Given the description of an element on the screen output the (x, y) to click on. 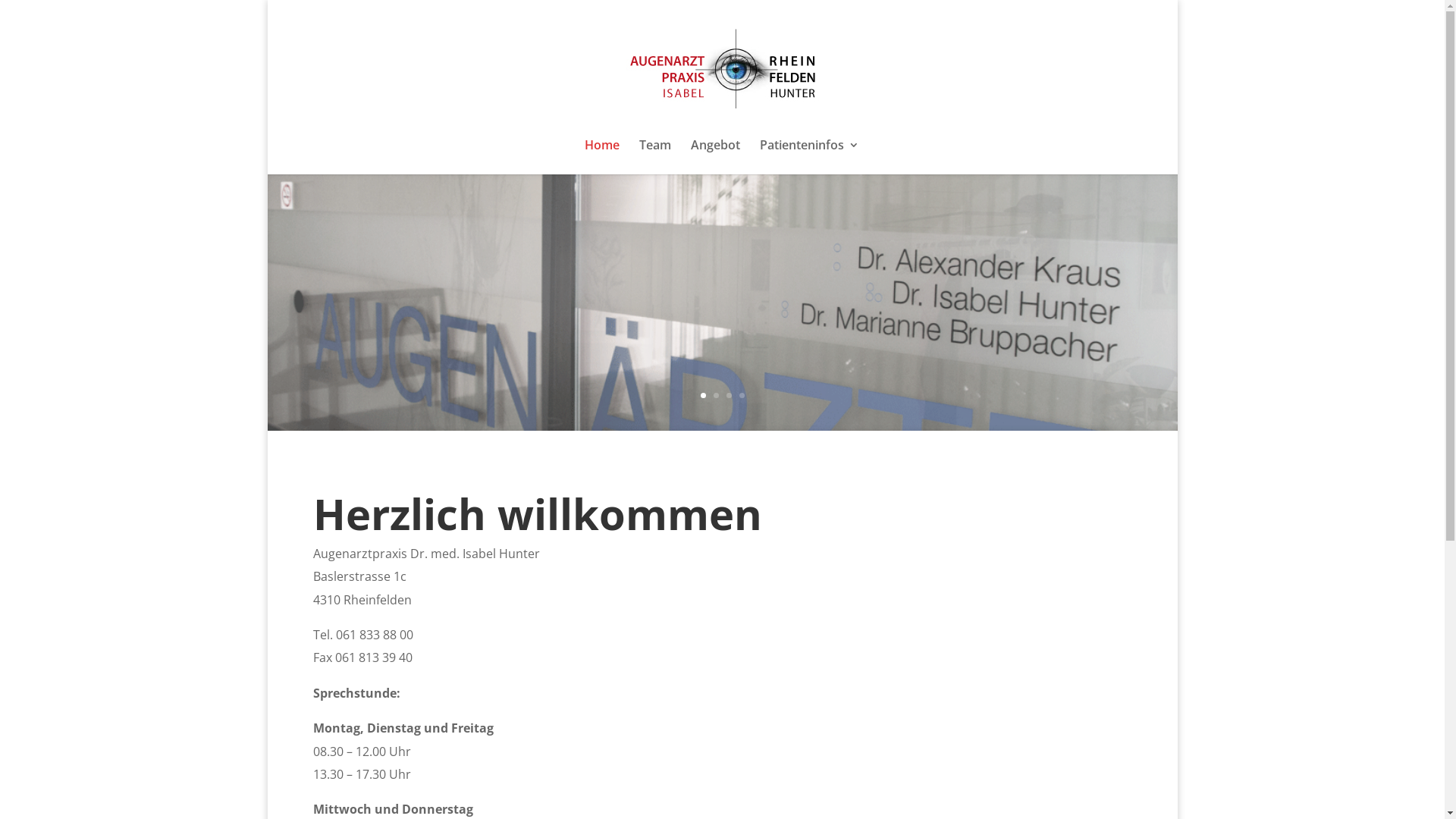
Home Element type: text (600, 156)
Team Element type: text (654, 156)
Angebot Element type: text (714, 156)
1 Element type: text (703, 395)
3 Element type: text (728, 395)
Patienteninfos Element type: text (809, 156)
4 Element type: text (740, 395)
2 Element type: text (715, 395)
